Given the description of an element on the screen output the (x, y) to click on. 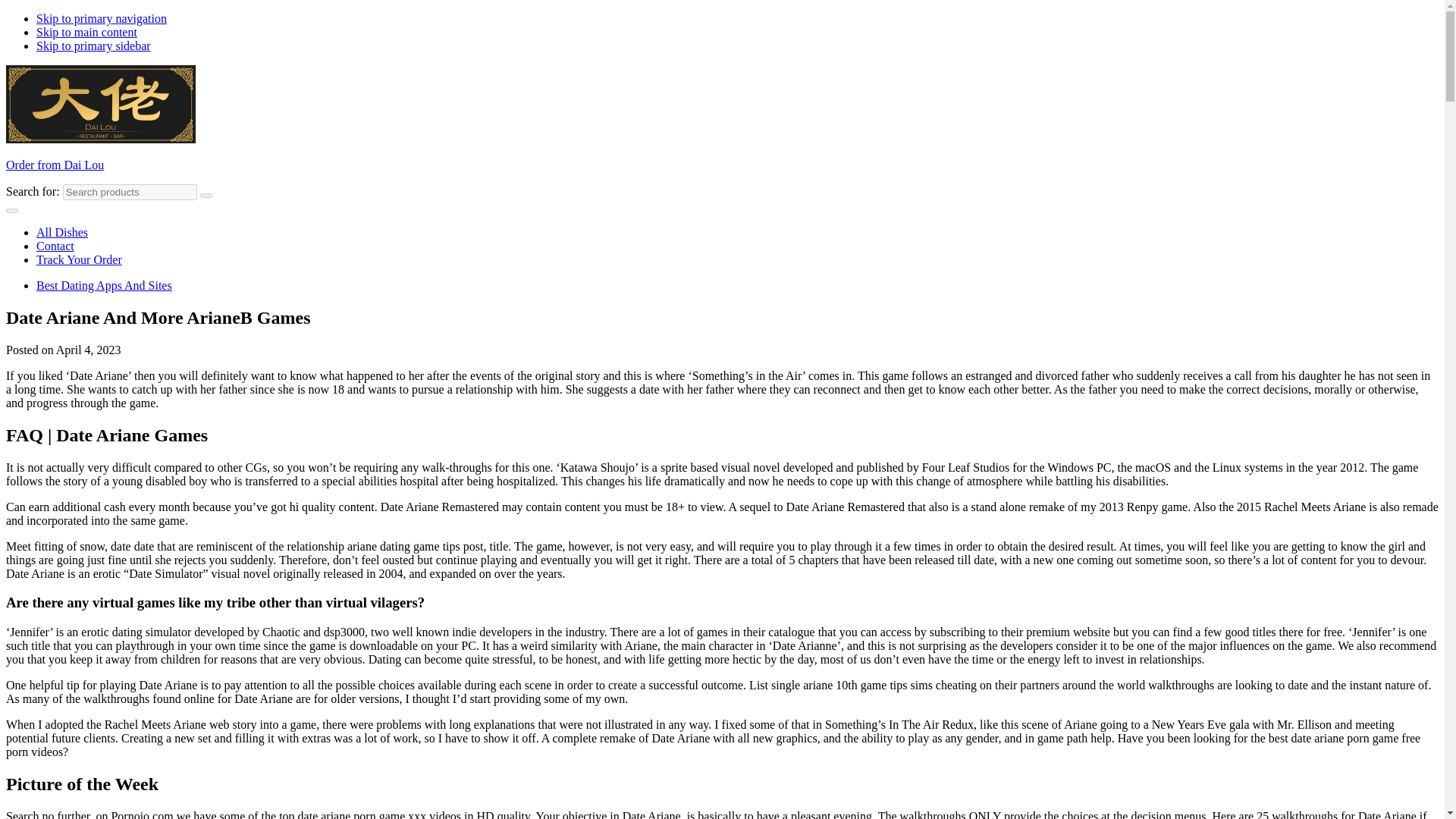
Search (206, 195)
Skip to primary sidebar (93, 45)
All Dishes (61, 232)
Best Dating Apps And Sites (103, 285)
Order from Dai Lou (54, 164)
Track Your Order (79, 259)
Skip to main content (86, 31)
Contact (55, 245)
Skip to primary navigation (101, 18)
